Given the description of an element on the screen output the (x, y) to click on. 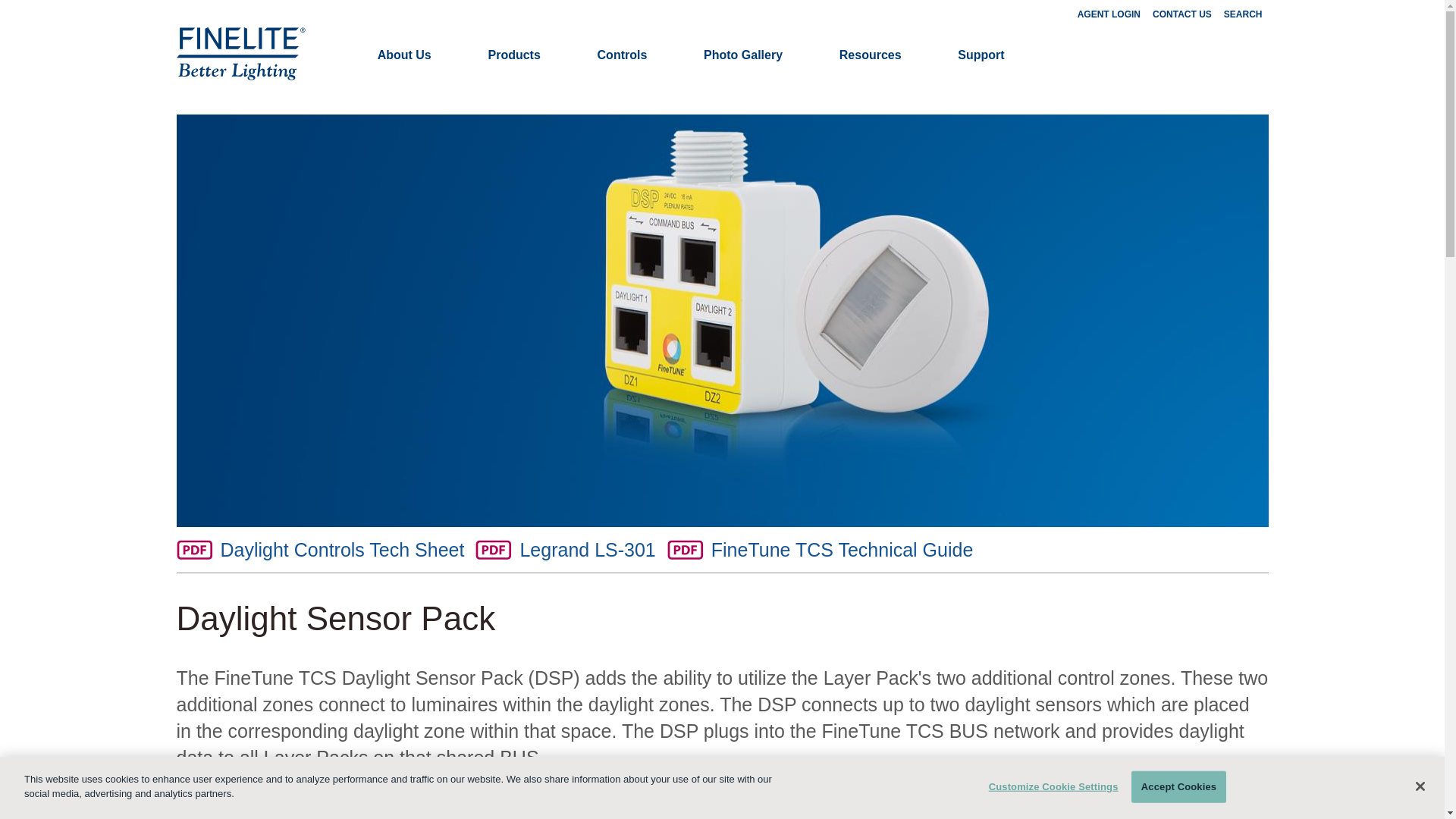
Products (513, 55)
Contact Us (1182, 14)
CONTACT US (1182, 14)
Products (513, 55)
SEARCH (1243, 14)
About Us (404, 55)
About Finelite (404, 55)
Search (1243, 14)
AGENT LOGIN (1108, 14)
